Given the description of an element on the screen output the (x, y) to click on. 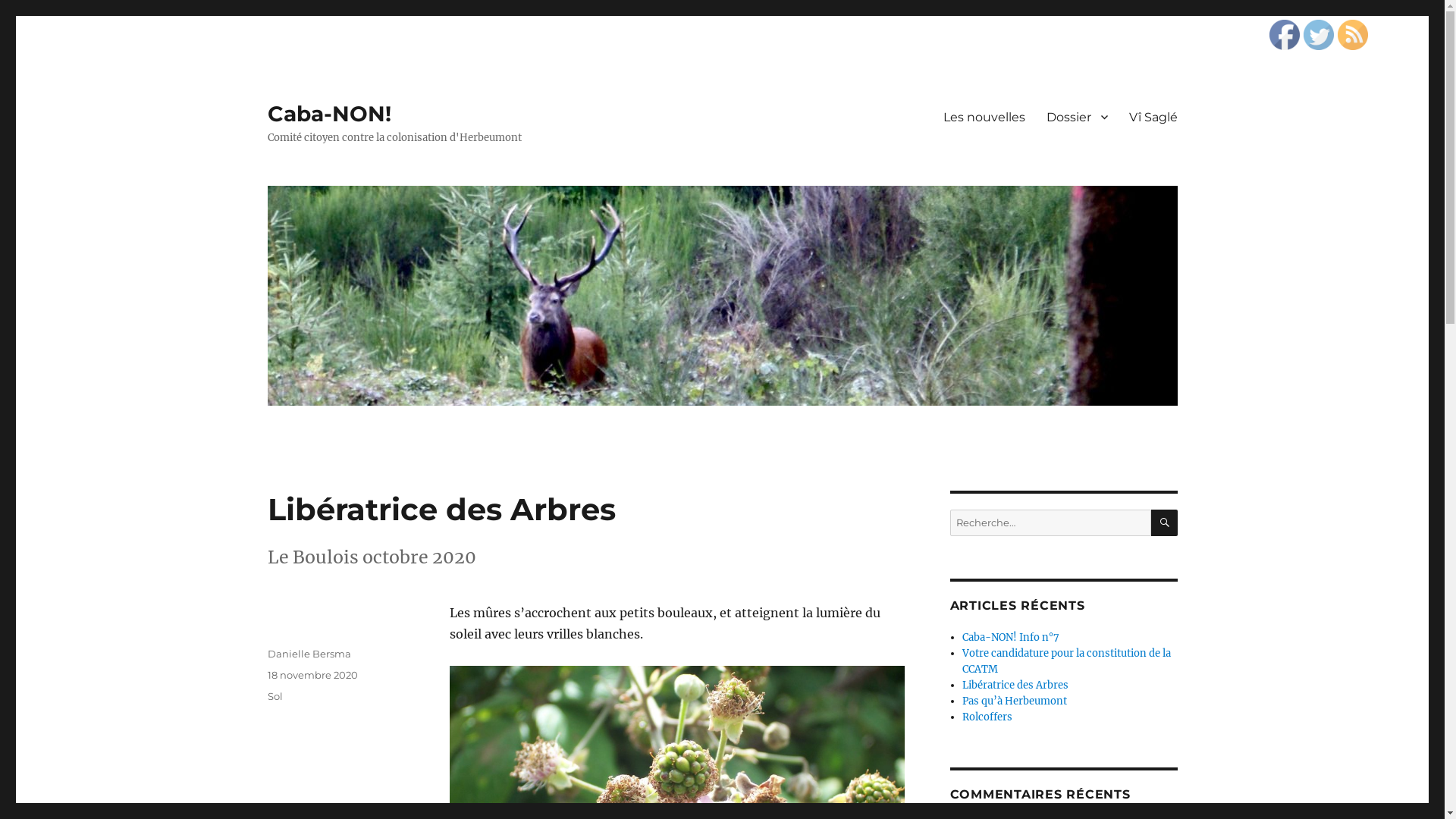
Les nouvelles Element type: text (983, 116)
Dossier Element type: text (1076, 116)
Facebook Element type: hover (1284, 34)
18 novembre 2020 Element type: text (311, 674)
Sol Element type: text (274, 696)
Votre candidature pour la constitution de la CCATM Element type: text (1066, 660)
Rolcoffers Element type: text (987, 716)
Danielle Bersma Element type: text (308, 653)
Twitter Element type: hover (1318, 34)
RECHERCHE Element type: text (1164, 522)
RSS Element type: hover (1352, 34)
Caba-NON! Element type: text (328, 113)
